Given the description of an element on the screen output the (x, y) to click on. 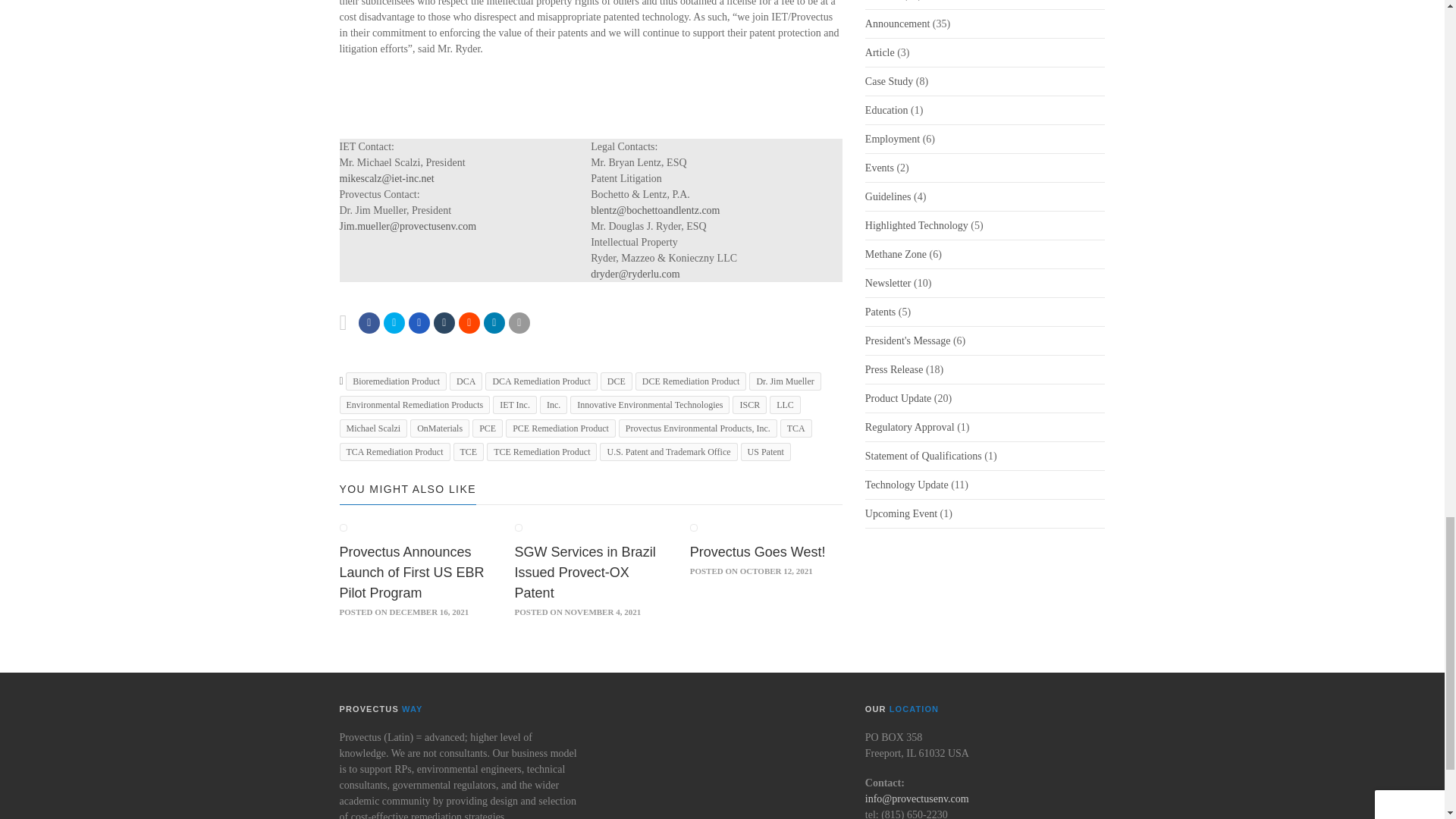
Email (518, 322)
Submit to Reddit (469, 322)
Share on Facebook (369, 322)
Tweet (394, 322)
Post to Tumblr (443, 322)
Email (494, 322)
